Given the description of an element on the screen output the (x, y) to click on. 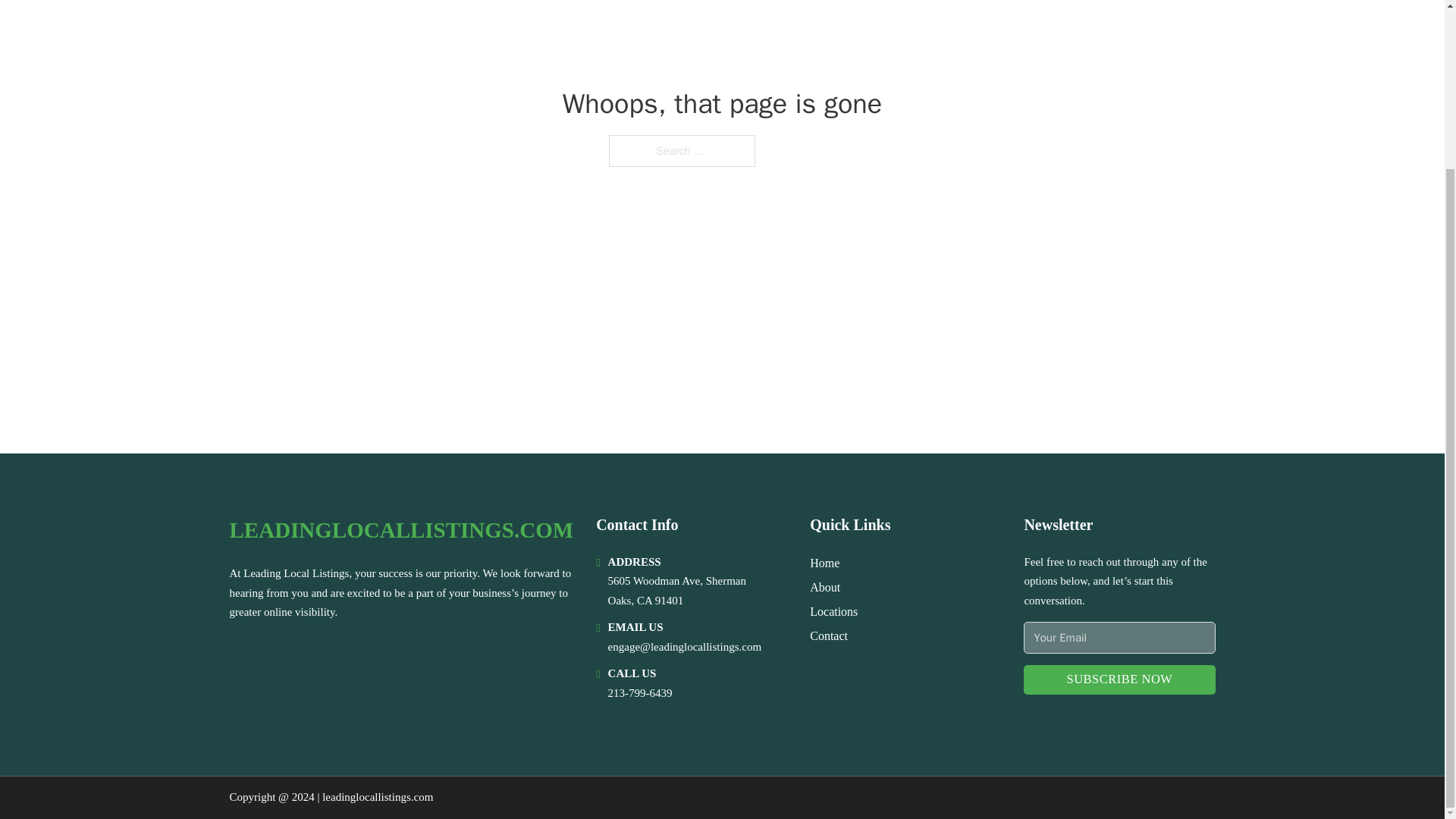
213-799-6439 (640, 693)
Locations (833, 611)
Contact (828, 635)
LEADINGLOCALLISTINGS.COM (400, 529)
Home (824, 562)
About (824, 587)
SUBSCRIBE NOW (1118, 679)
